Given the description of an element on the screen output the (x, y) to click on. 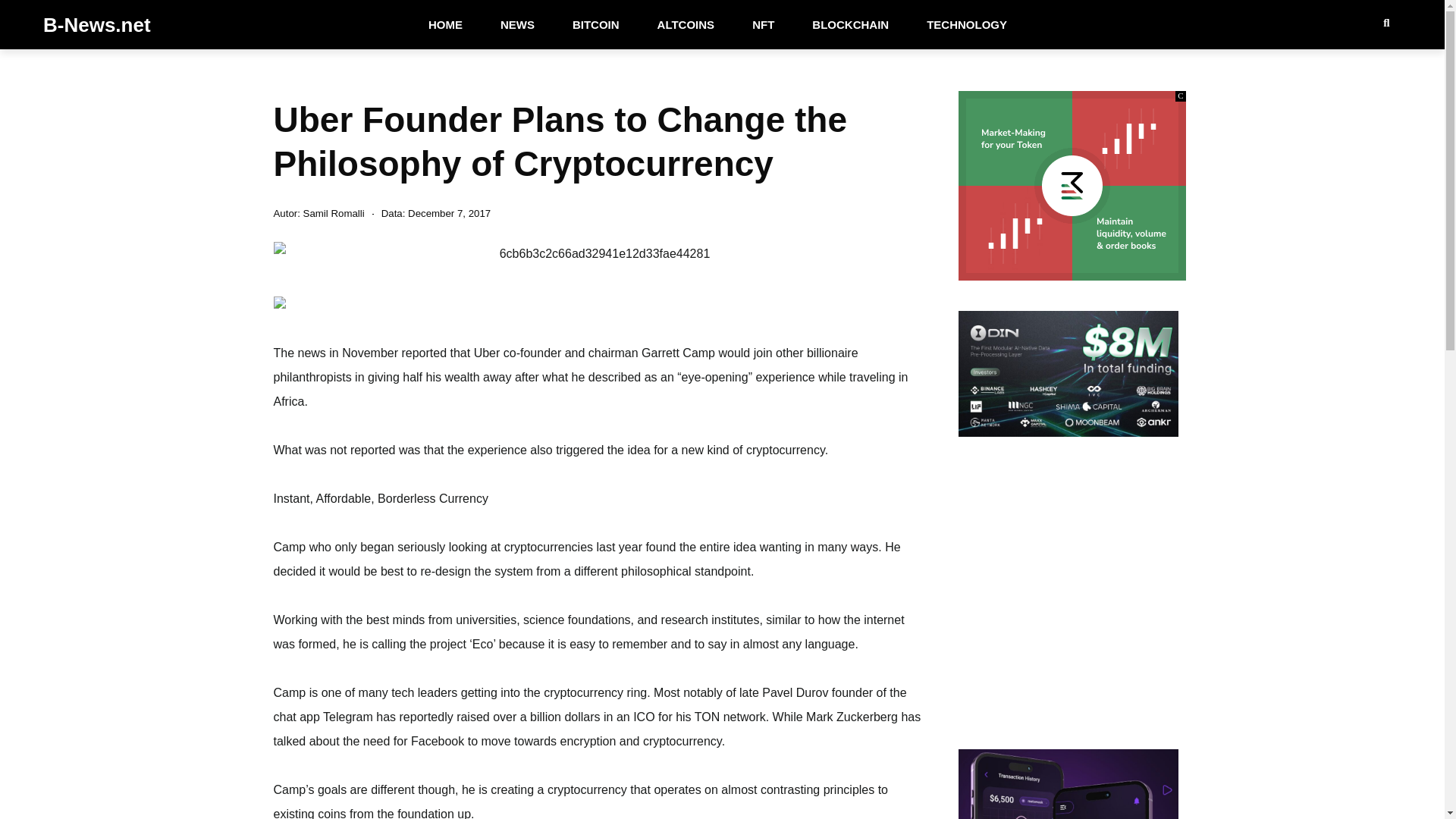
B-News.net (97, 24)
NFT (763, 24)
HOME (445, 24)
NEWS (517, 24)
TECHNOLOGY (966, 24)
6cb6b3c2c66ad32941e12d33fae44281 (598, 253)
BITCOIN (596, 24)
BLOCKCHAIN (850, 24)
ALTCOINS (686, 24)
